Given the description of an element on the screen output the (x, y) to click on. 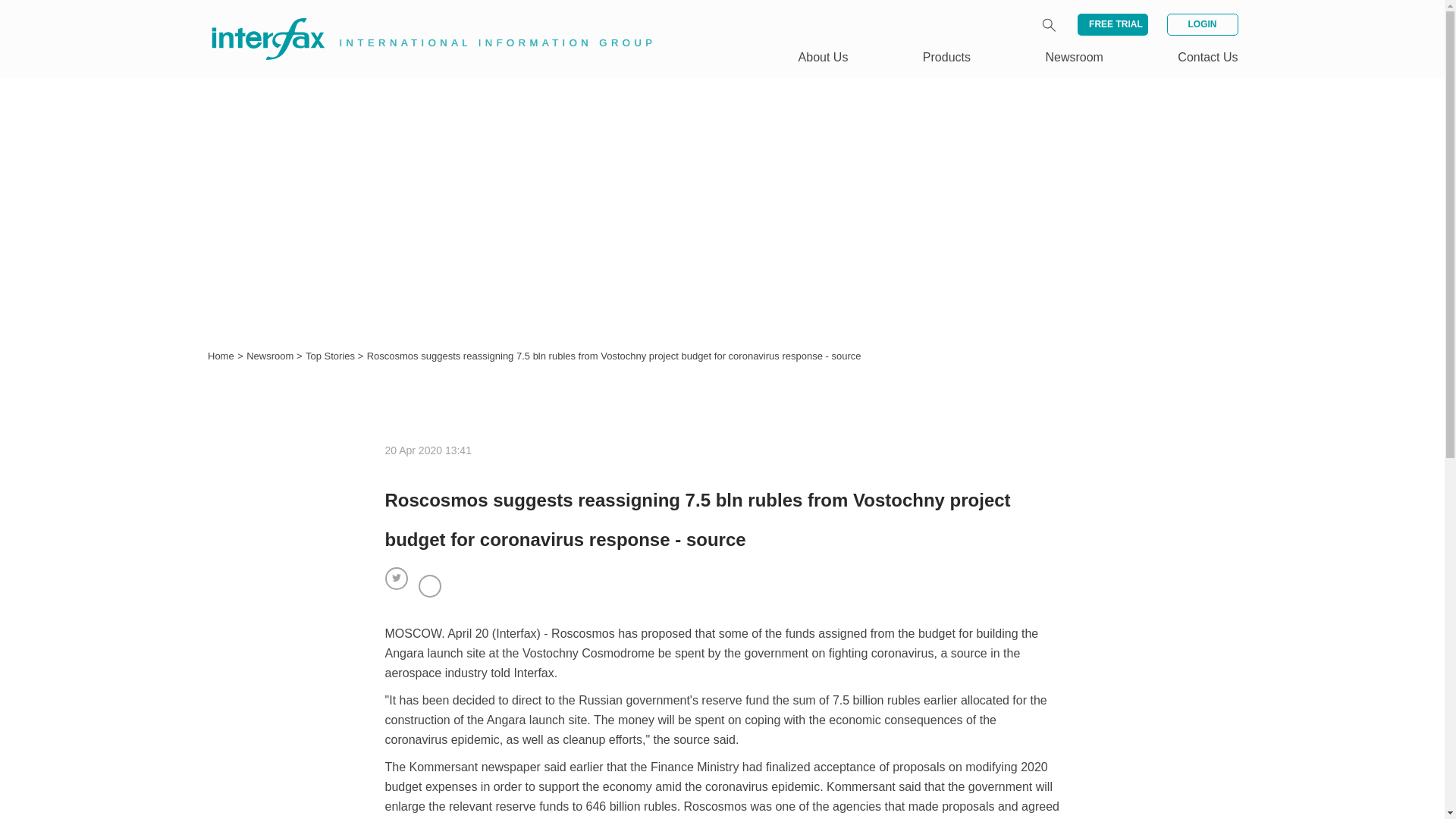
Home (221, 355)
Top Stories (331, 355)
INTERNATIONAL INFORMATION GROUP (421, 20)
FREE TRIAL (1112, 24)
Newsroom (271, 355)
Contact Us (1207, 56)
About Us (822, 56)
Newsroom (271, 355)
Newsroom (1073, 56)
LOGIN (1201, 24)
